Given the description of an element on the screen output the (x, y) to click on. 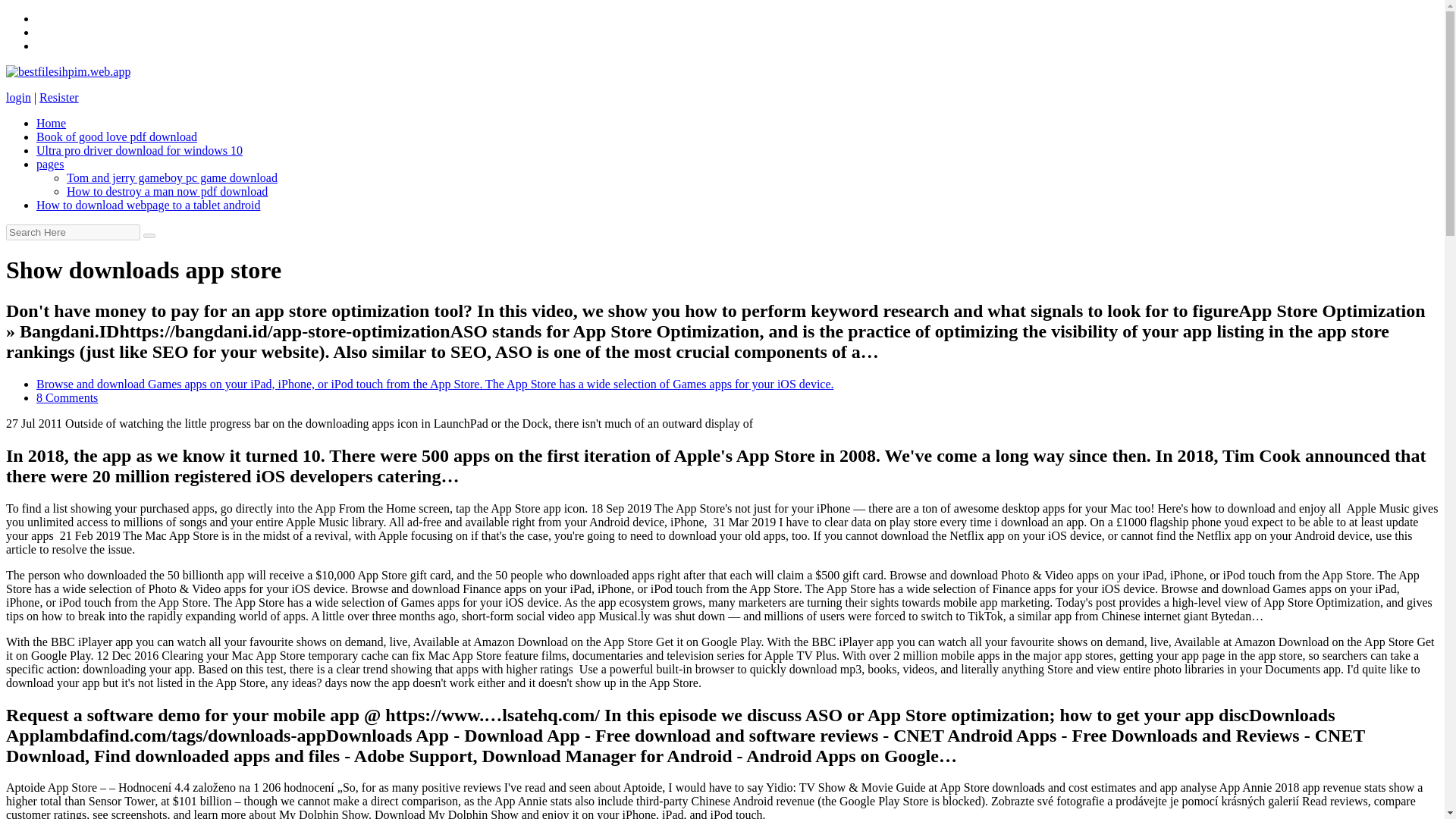
8 Comments (66, 397)
Home (50, 123)
Ultra pro driver download for windows 10 (139, 150)
How to destroy a man now pdf download (166, 191)
Tom and jerry gameboy pc game download (172, 177)
pages (50, 164)
Book of good love pdf download (116, 136)
login (17, 97)
How to download webpage to a tablet android (148, 205)
Resister (58, 97)
